Given the description of an element on the screen output the (x, y) to click on. 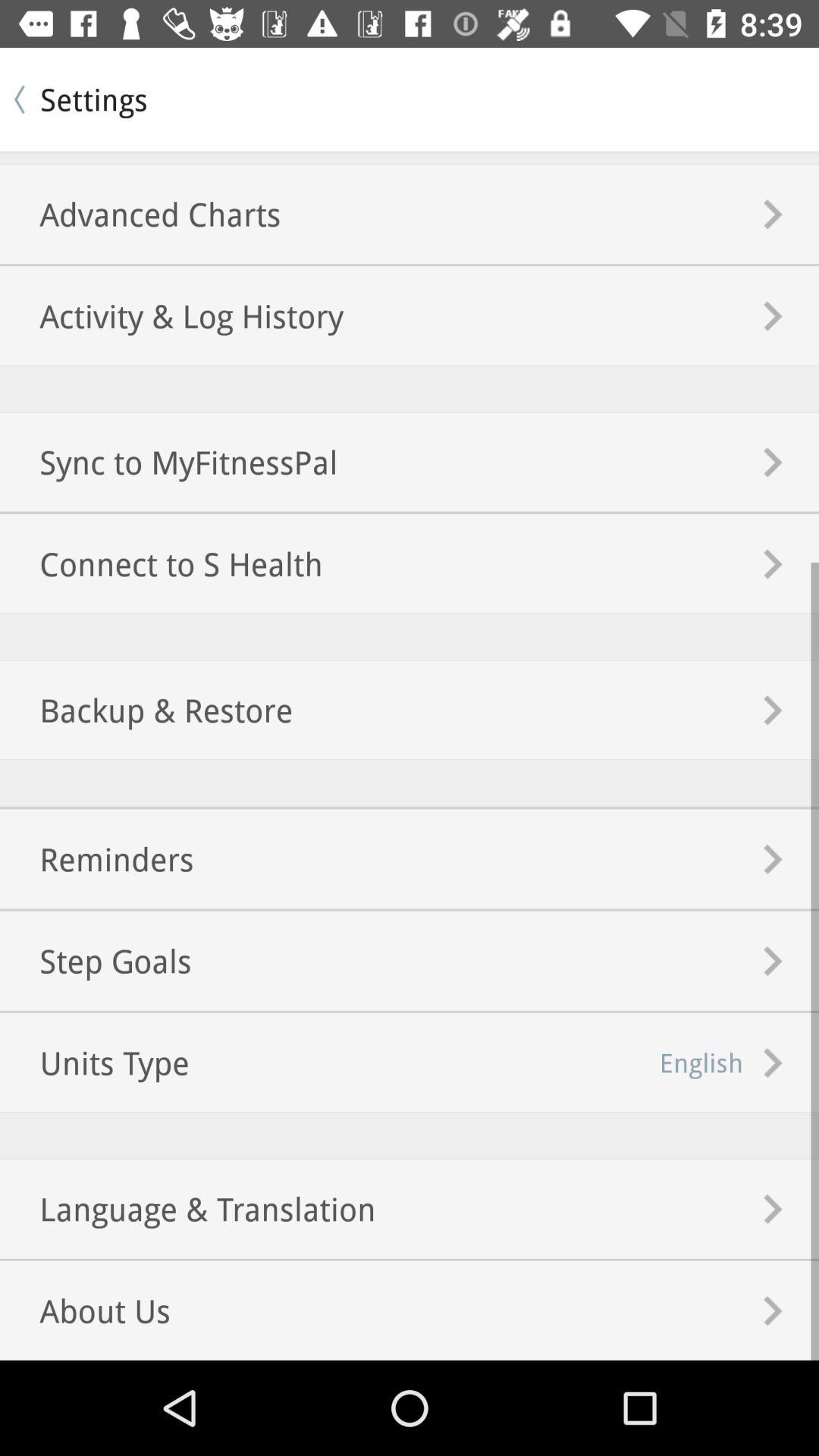
scroll to about us item (85, 1310)
